Given the description of an element on the screen output the (x, y) to click on. 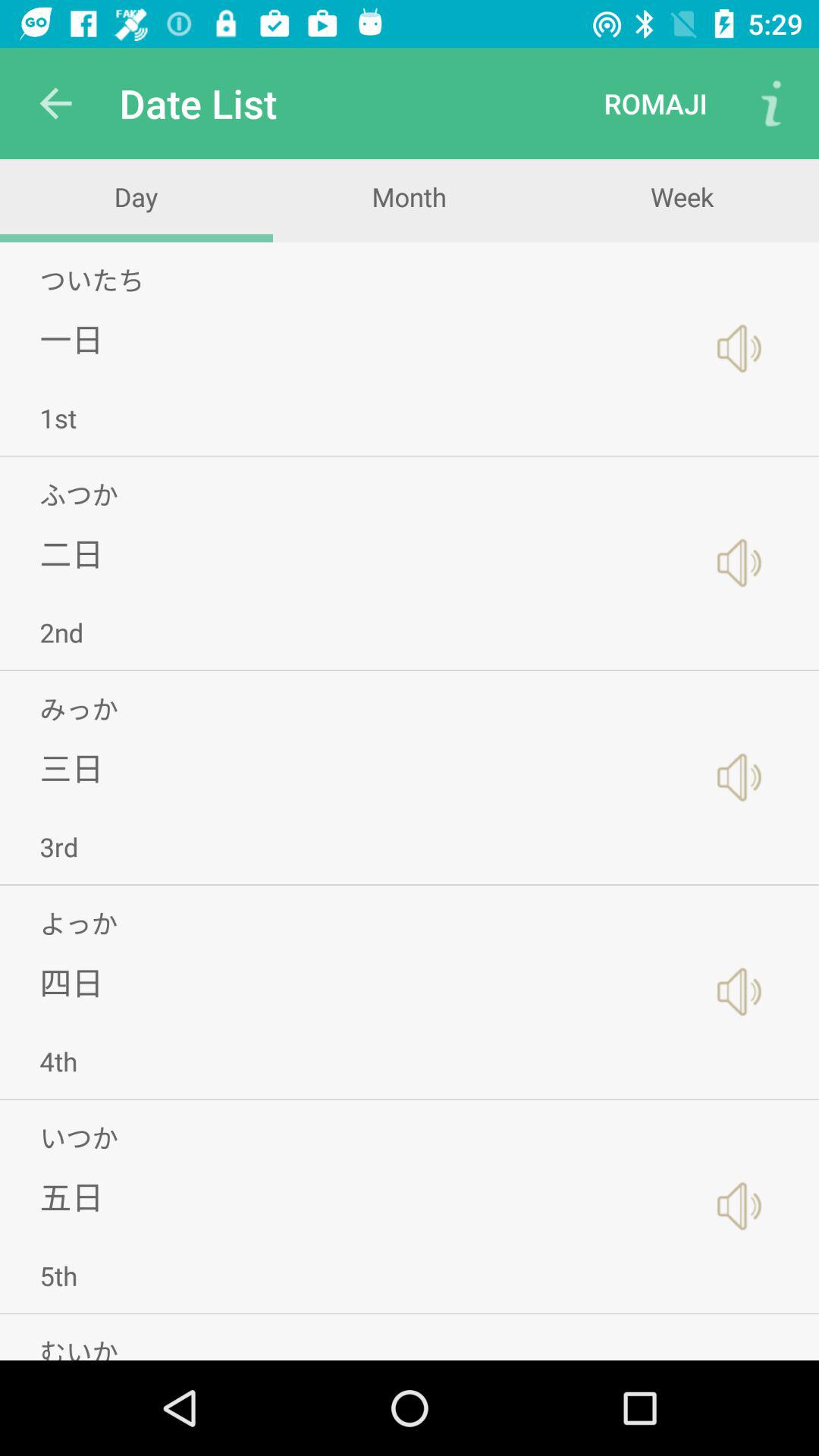
press icon next to date list (55, 103)
